Given the description of an element on the screen output the (x, y) to click on. 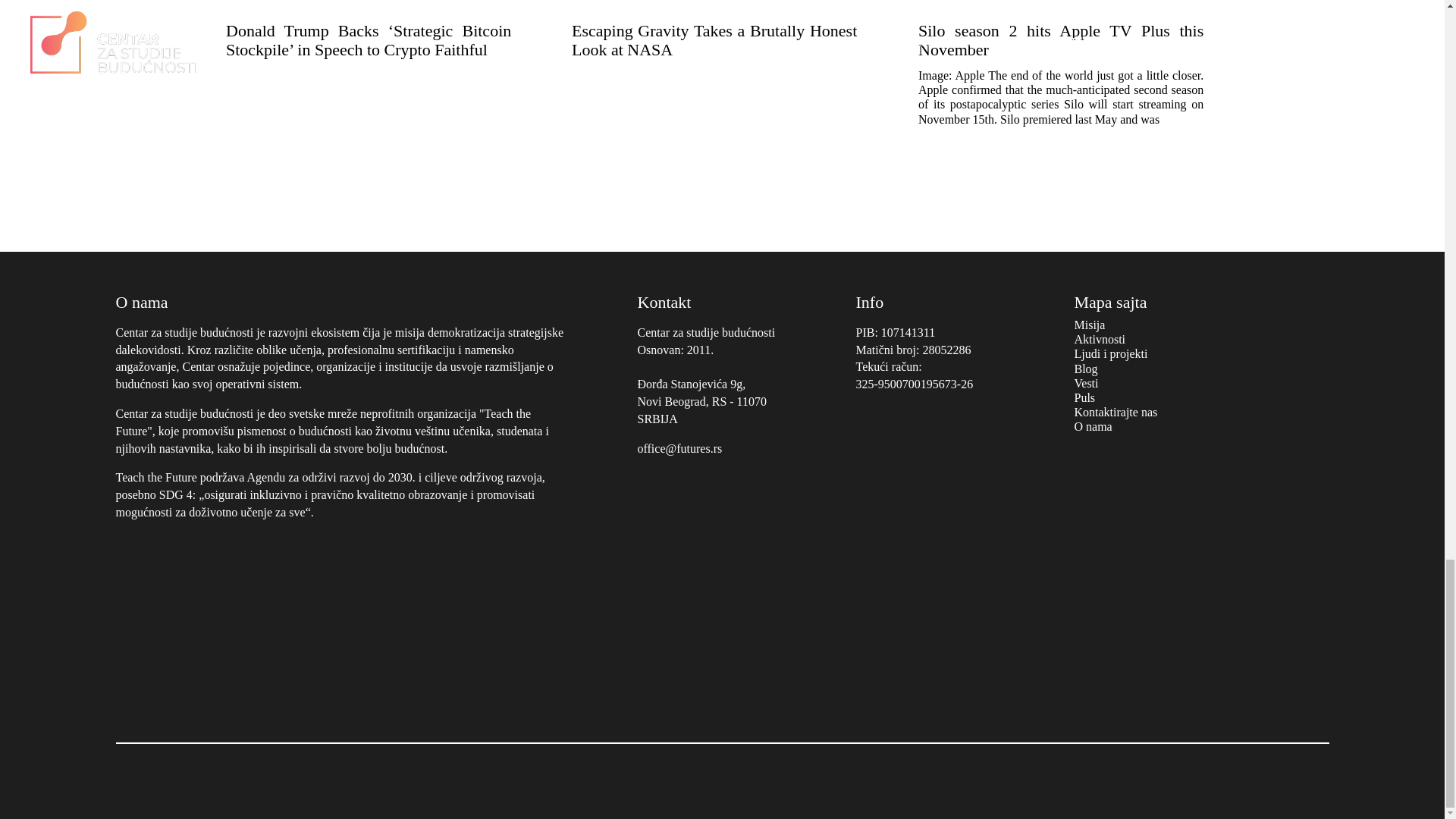
Puls (1084, 397)
O nama (1093, 426)
Escaping Gravity Takes a Brutally Honest Look at NASA (722, 42)
Kontaktirajte nas (1115, 411)
Blog (1085, 368)
Vesti (1085, 382)
Ljudi i projekti (1110, 353)
Aktivnosti (1099, 338)
Misija (1089, 324)
